Given the description of an element on the screen output the (x, y) to click on. 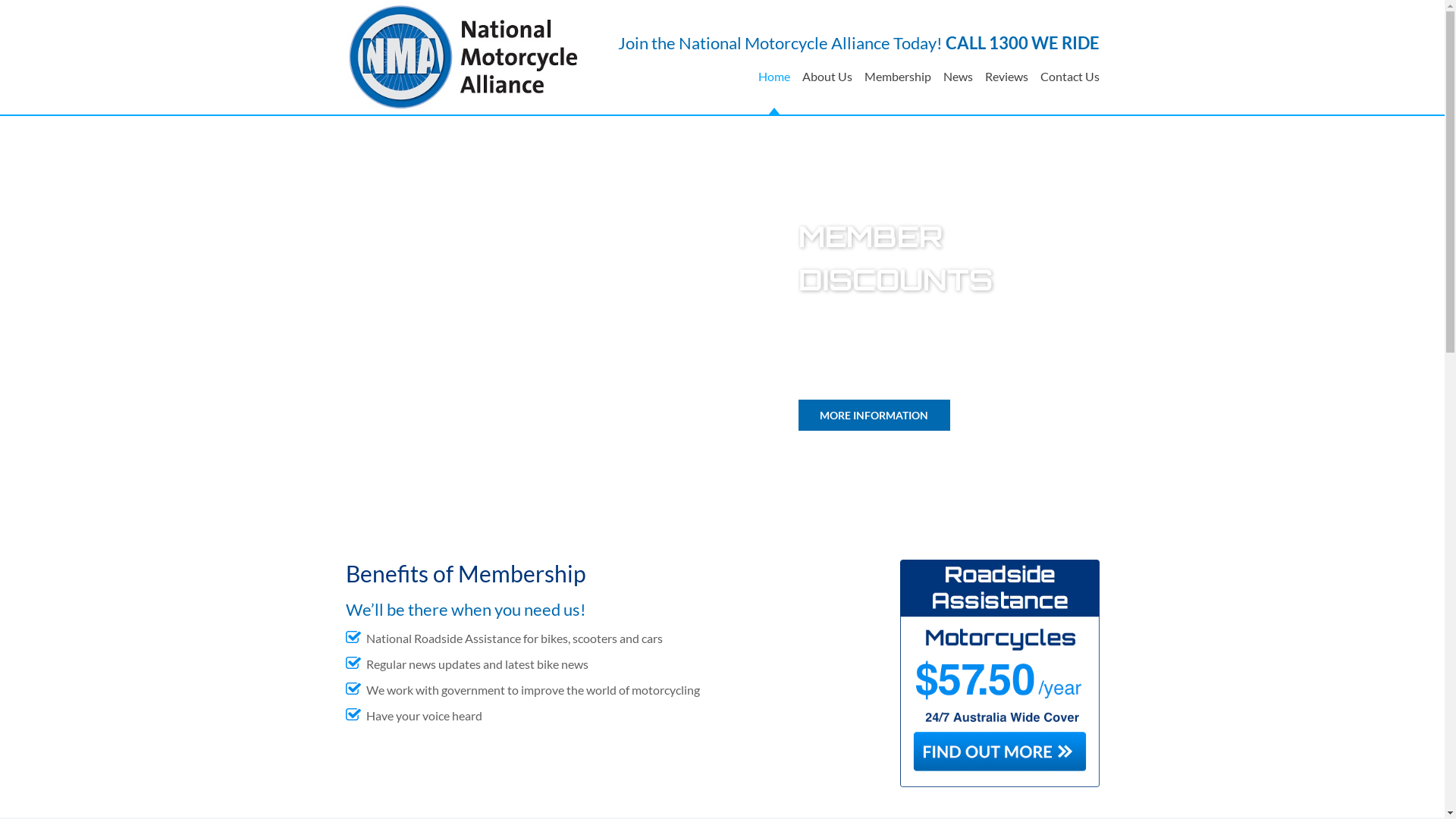
1 Element type: text (712, 502)
MORE INFORMATION Element type: text (874, 414)
National Motorcycle Alliance Element type: hover (463, 54)
Reviews Element type: text (1005, 84)
Contact Us Element type: text (1066, 84)
Home Element type: text (774, 84)
Membership Element type: text (897, 84)
2 Element type: text (731, 502)
About Us Element type: text (827, 84)
Road Assistance Element type: hover (999, 673)
News Element type: text (958, 84)
National Motorcycle Alliance Element type: hover (463, 56)
